Given the description of an element on the screen output the (x, y) to click on. 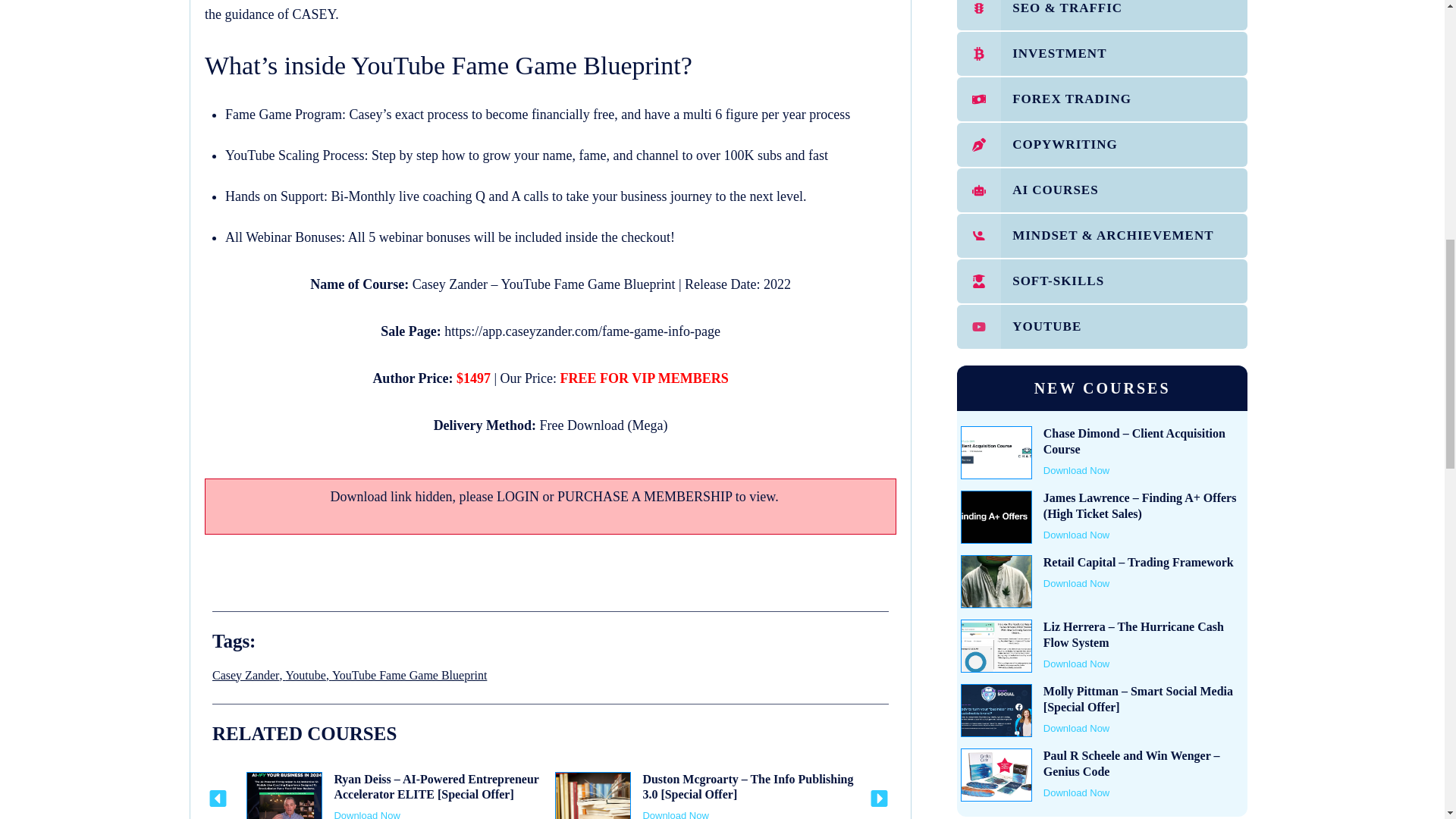
Youtube (305, 675)
PURCHASE A MEMBERSHIP (644, 496)
Youtube (305, 675)
Casey Zander (245, 675)
YouTube Fame Game Blueprint (408, 675)
YouTube Fame Game Blueprint (408, 675)
Casey Zander (245, 675)
Download Now (365, 814)
LOGIN (517, 496)
Download Now (674, 814)
